Given the description of an element on the screen output the (x, y) to click on. 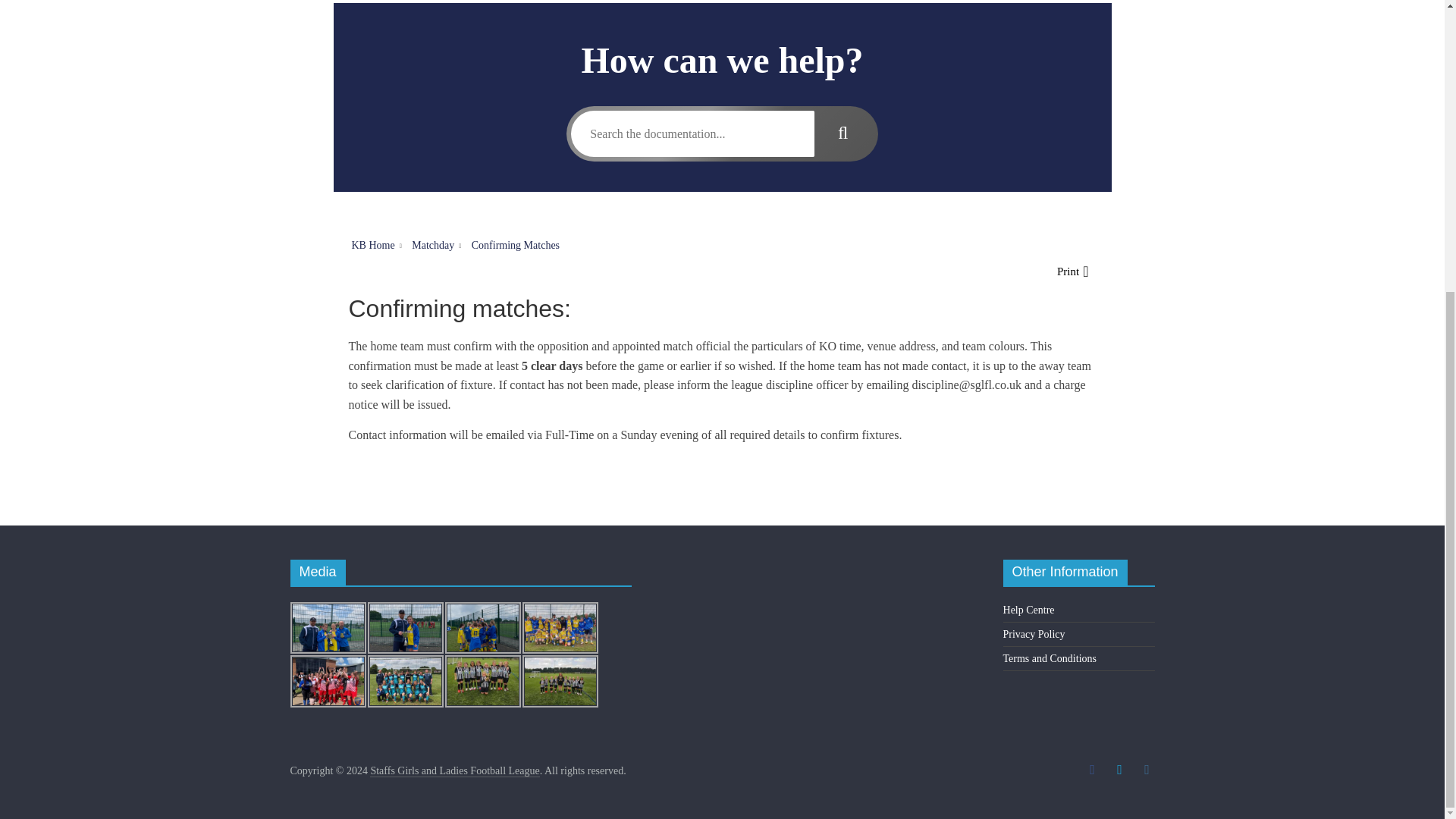
Terms and Conditions (1049, 658)
KB Home (373, 244)
Help Centre (1028, 609)
Page 6 (722, 369)
Matchday (433, 244)
Privacy Policy (1034, 633)
a5655d8b-4572-459d-a89b-c5baf20229e6 (481, 681)
